Given the description of an element on the screen output the (x, y) to click on. 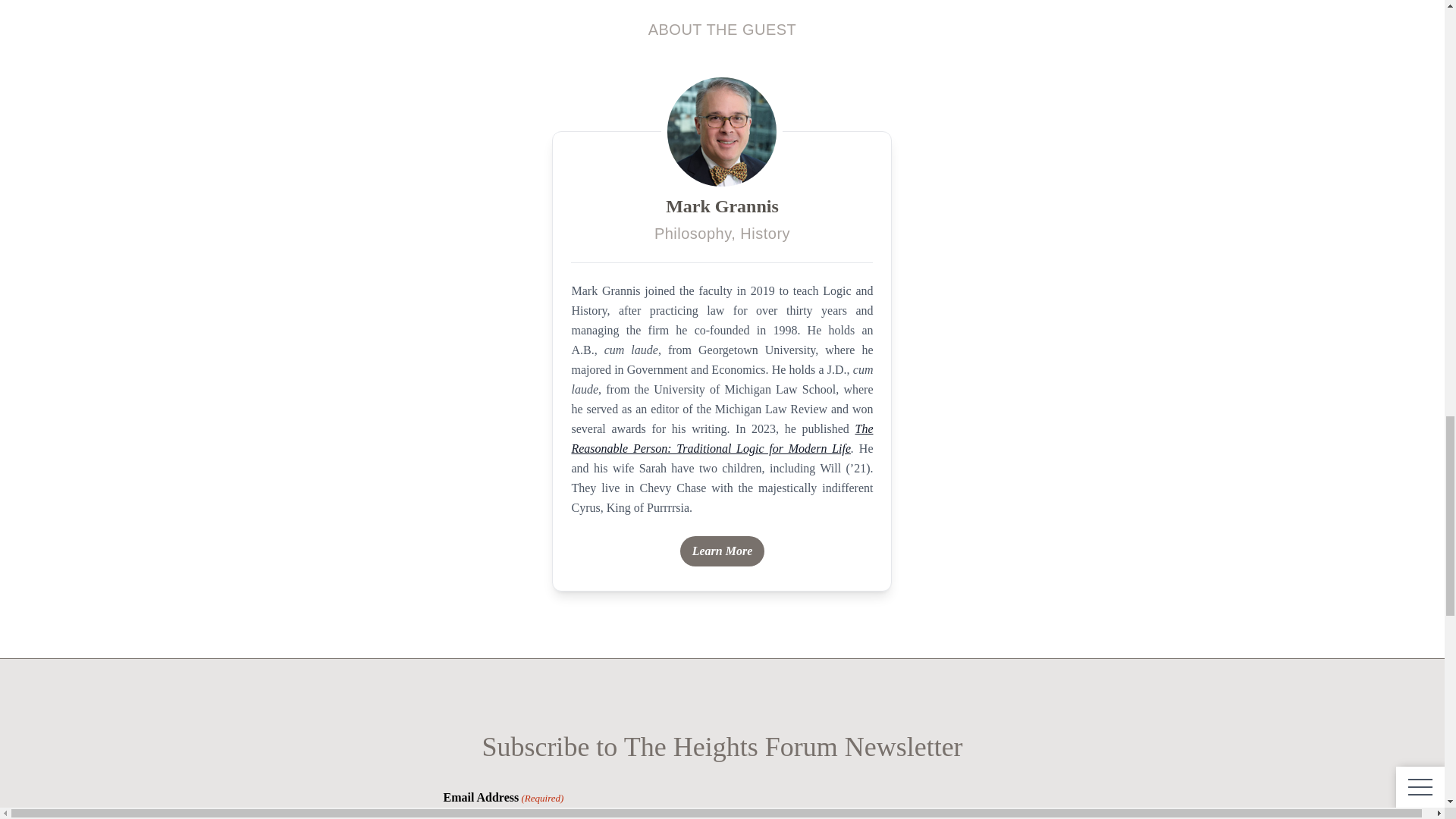
The Reasonable Person: Traditional Logic for Modern Life (721, 438)
Learn More (722, 551)
